Given the description of an element on the screen output the (x, y) to click on. 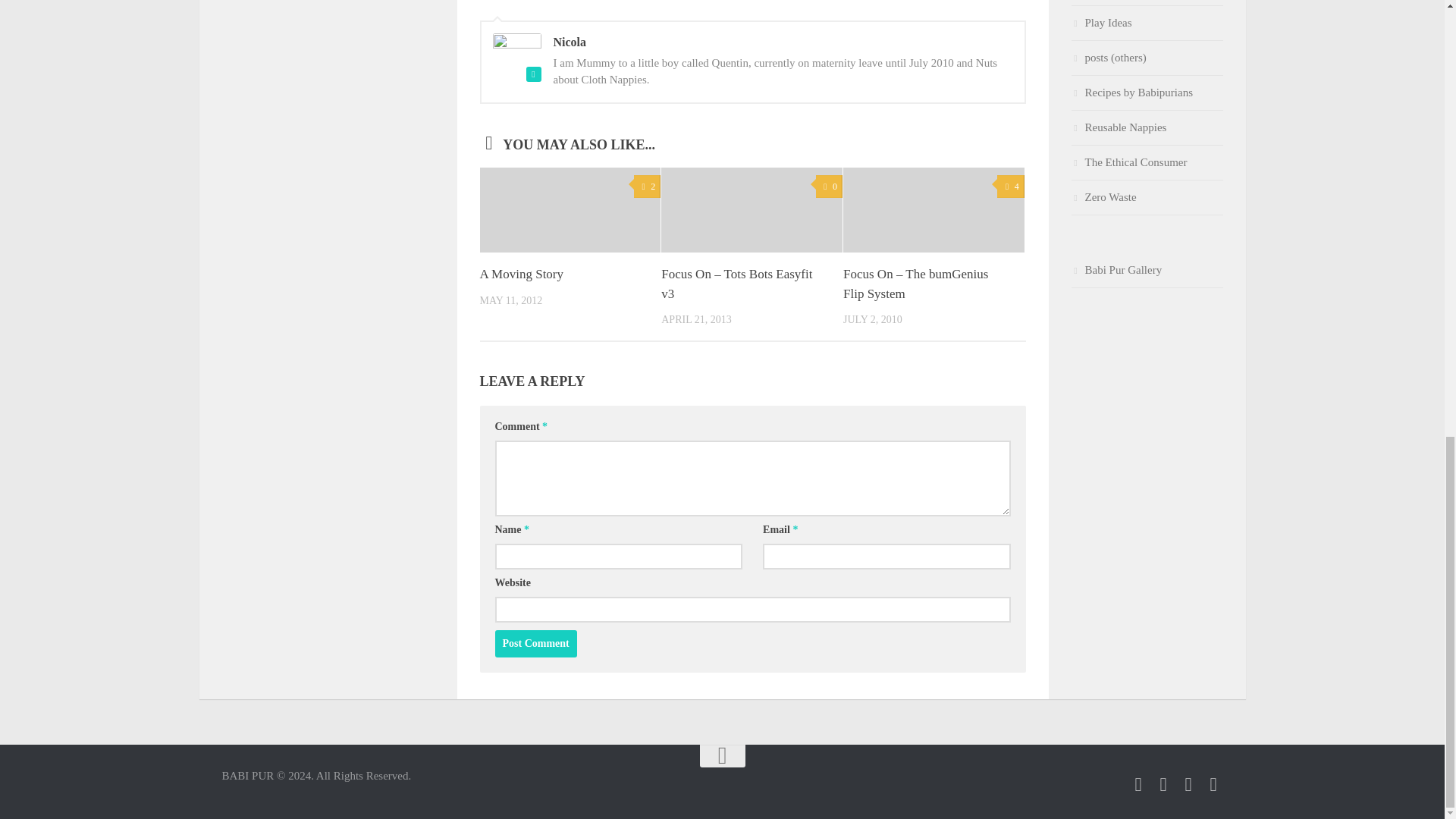
Follow us on Instagram (1186, 783)
Follow us on Twitter-square (1162, 783)
2 (647, 187)
Follow us on Facebook-square (1137, 783)
A Moving Story (521, 273)
View our videos on YouTube (1213, 783)
0 (829, 187)
Post Comment (535, 643)
4 (1010, 187)
